Given the description of an element on the screen output the (x, y) to click on. 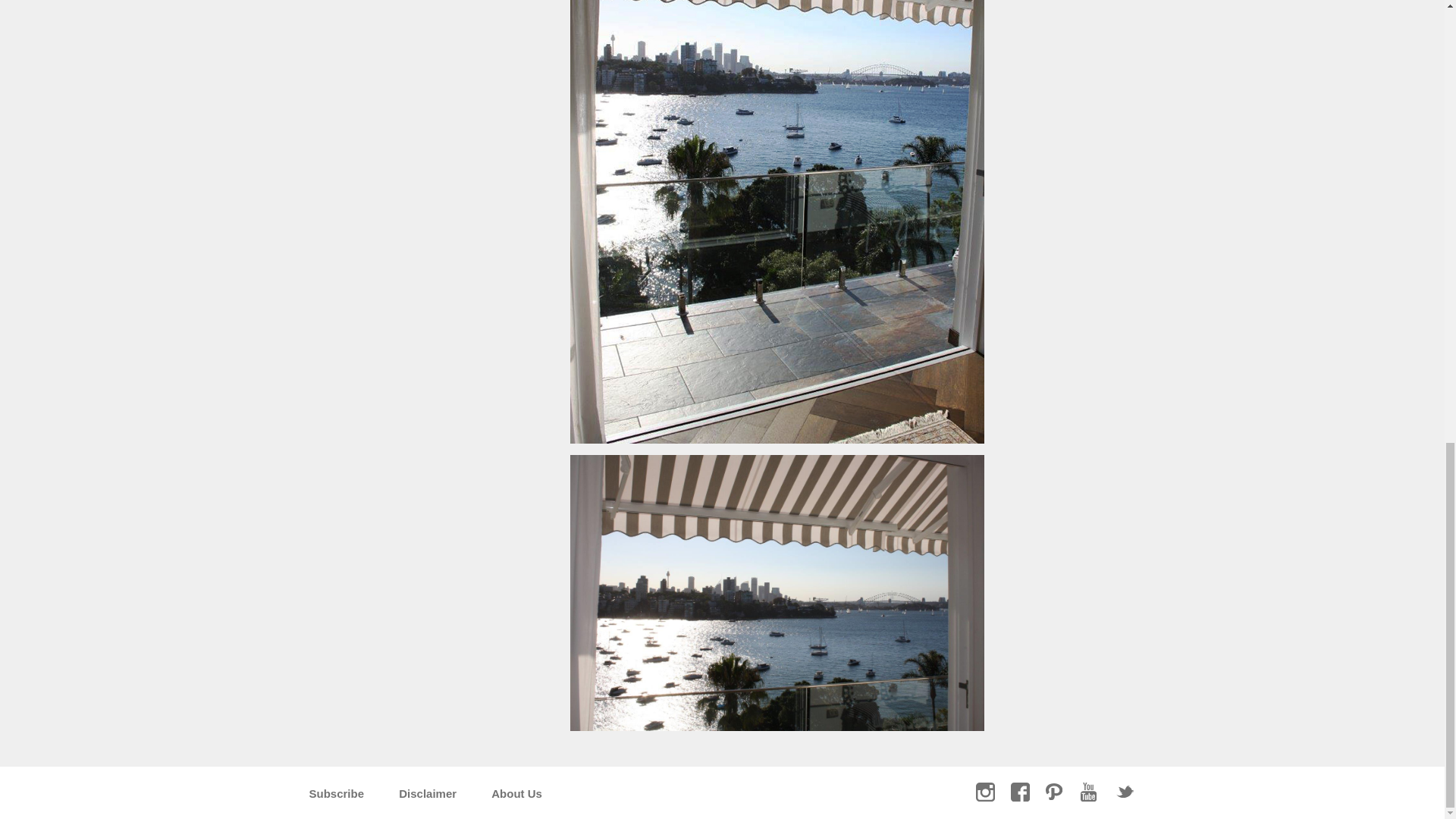
About Us (516, 793)
Subscribe (336, 793)
Disclaimer (427, 793)
